Given the description of an element on the screen output the (x, y) to click on. 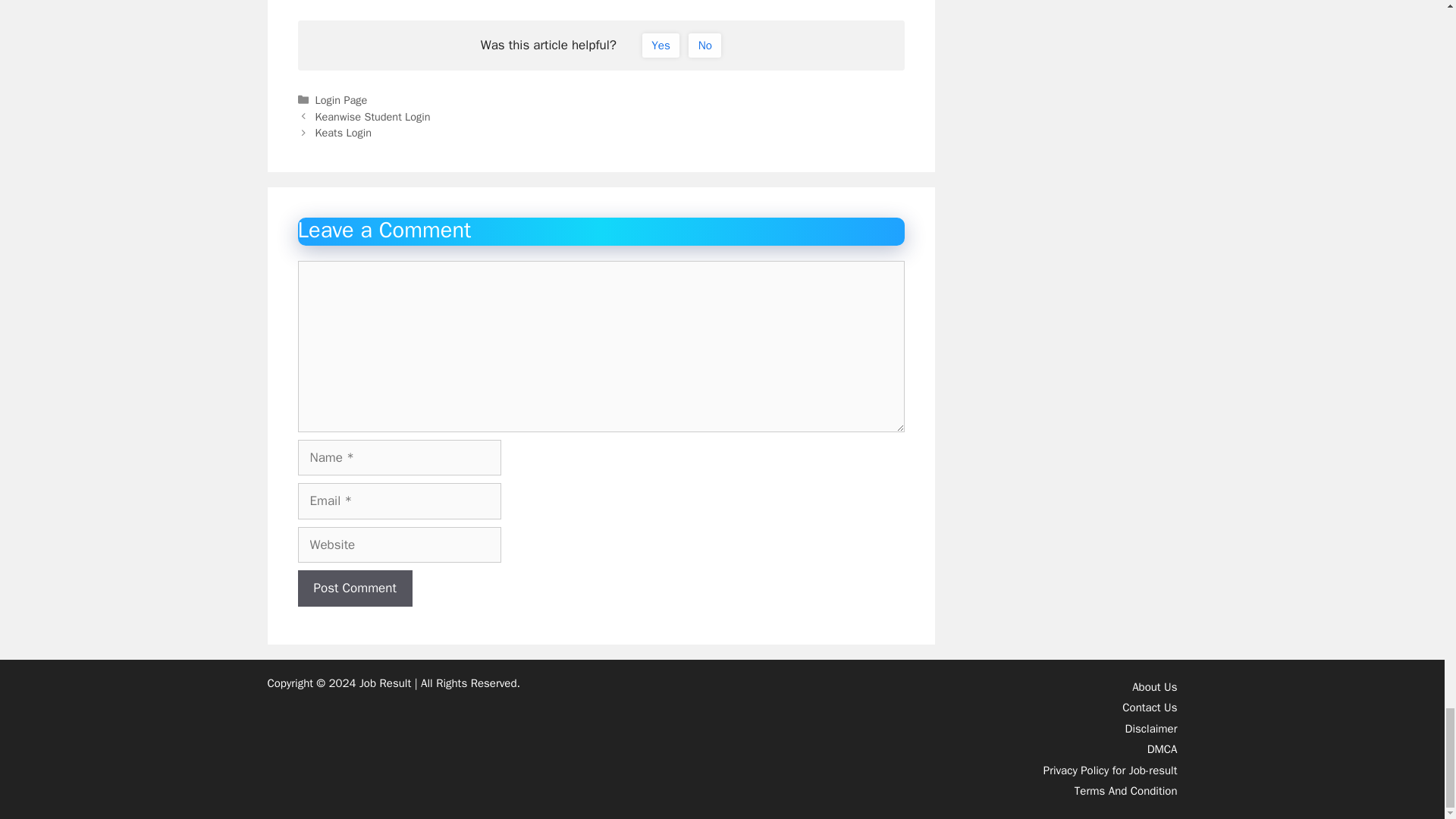
Post Comment (354, 588)
Keanwise Student Login (372, 116)
Keats Login (343, 132)
Post Comment (354, 588)
Login Page (341, 100)
